Given the description of an element on the screen output the (x, y) to click on. 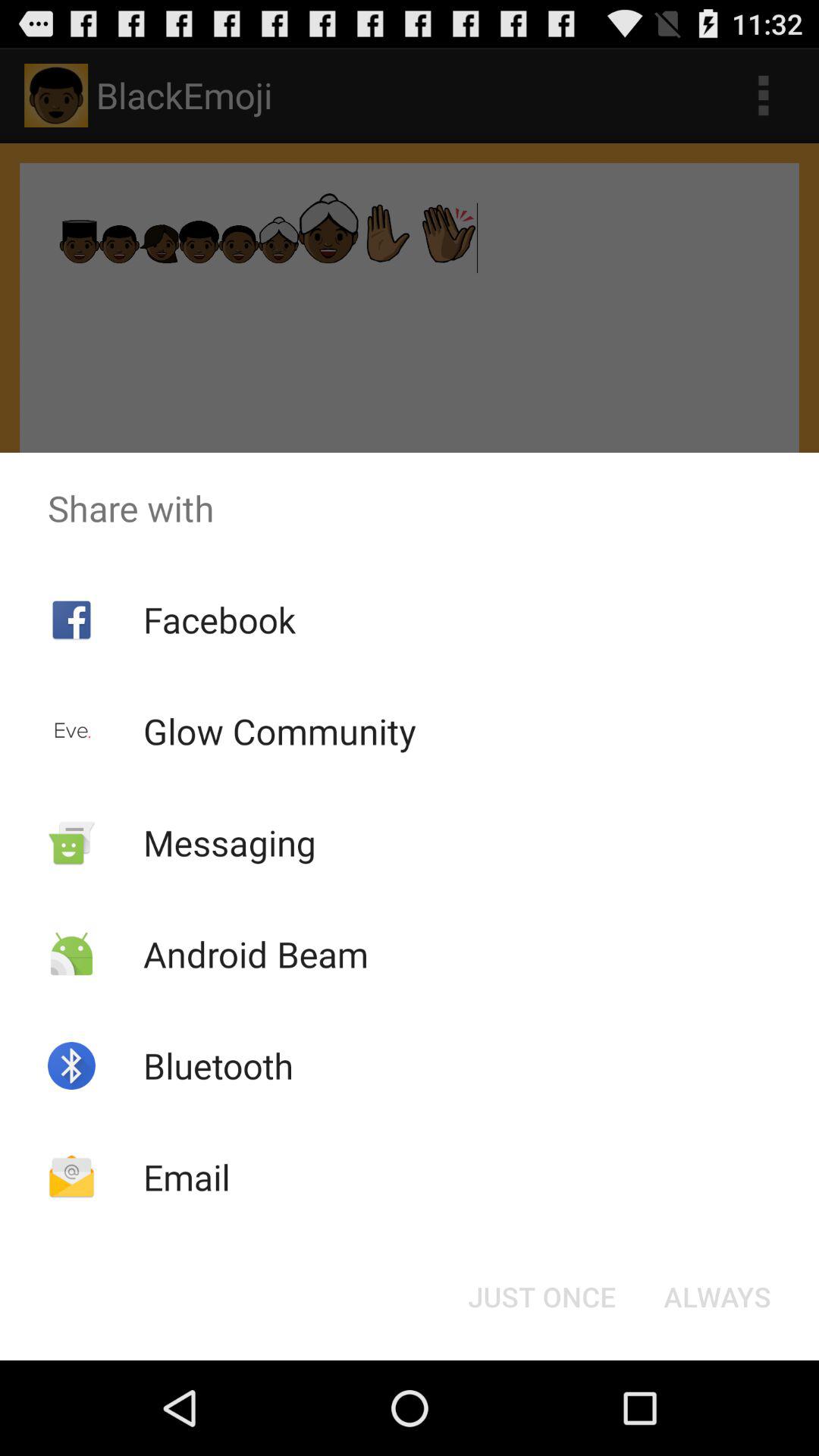
turn off the android beam app (255, 953)
